Given the description of an element on the screen output the (x, y) to click on. 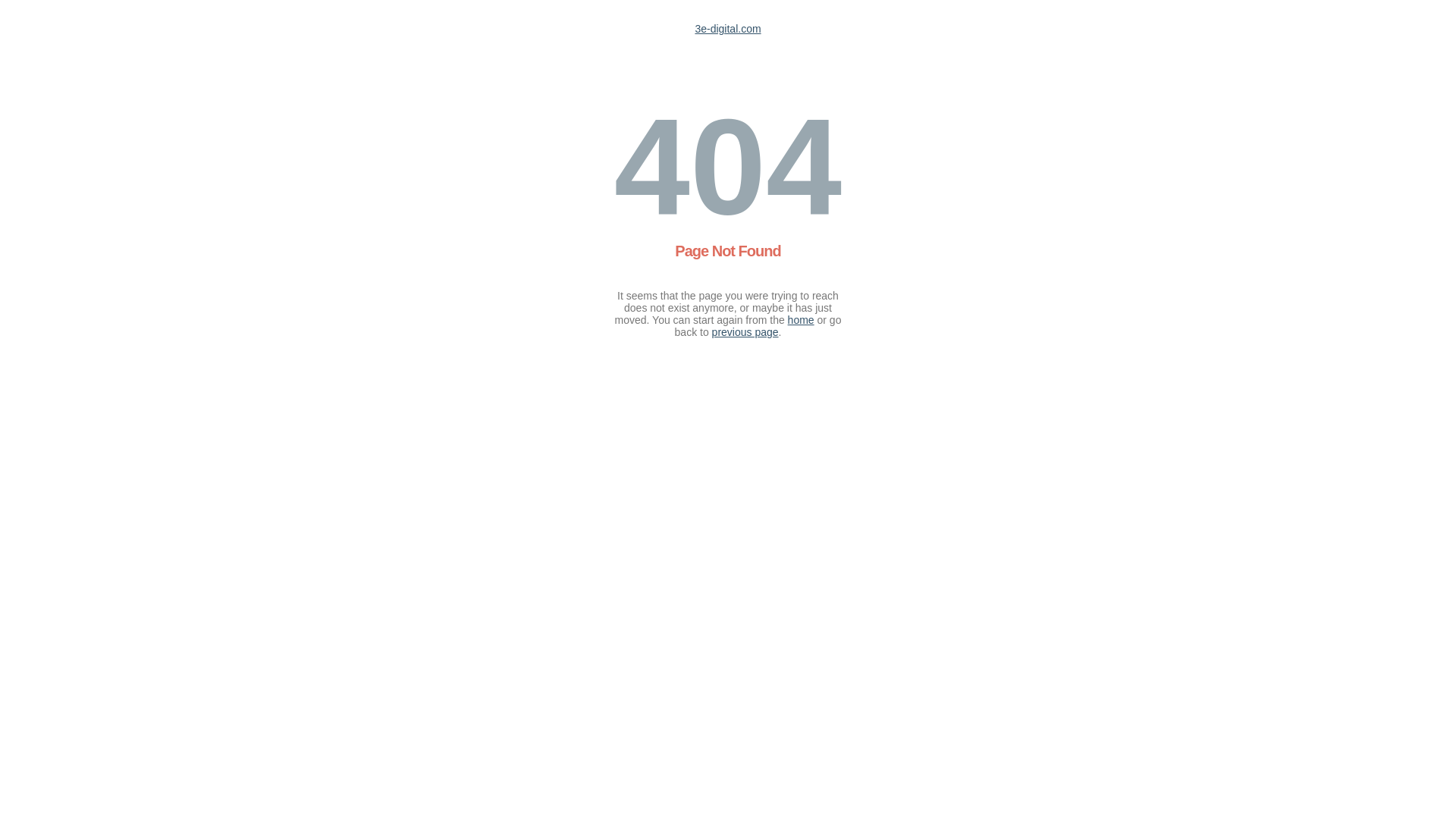
3e-digital.com Element type: text (727, 28)
home Element type: text (800, 319)
previous page Element type: text (745, 332)
